Given the description of an element on the screen output the (x, y) to click on. 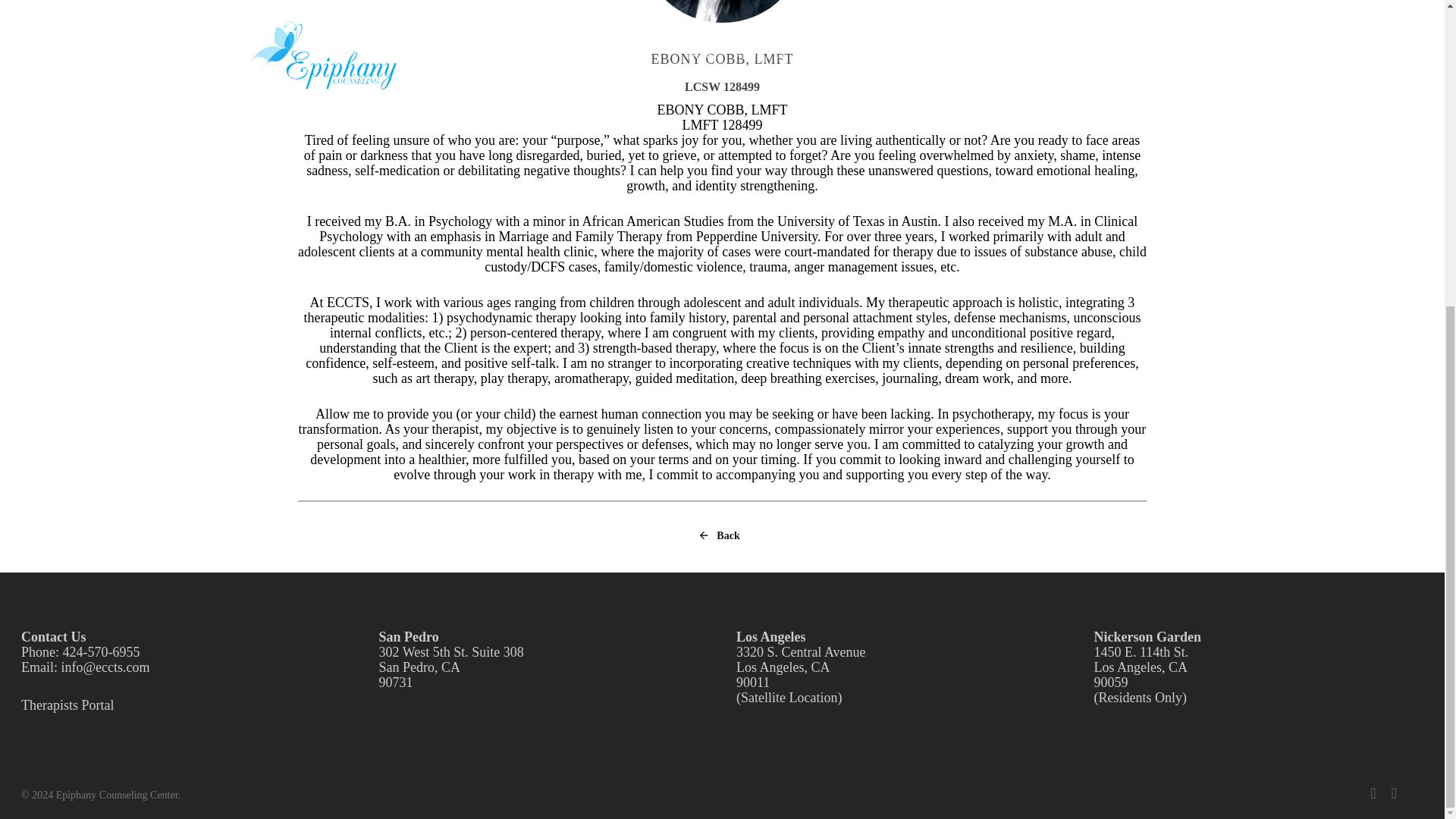
Therapists Portal (67, 704)
Back (718, 536)
Click here to go back (718, 536)
